Given the description of an element on the screen output the (x, y) to click on. 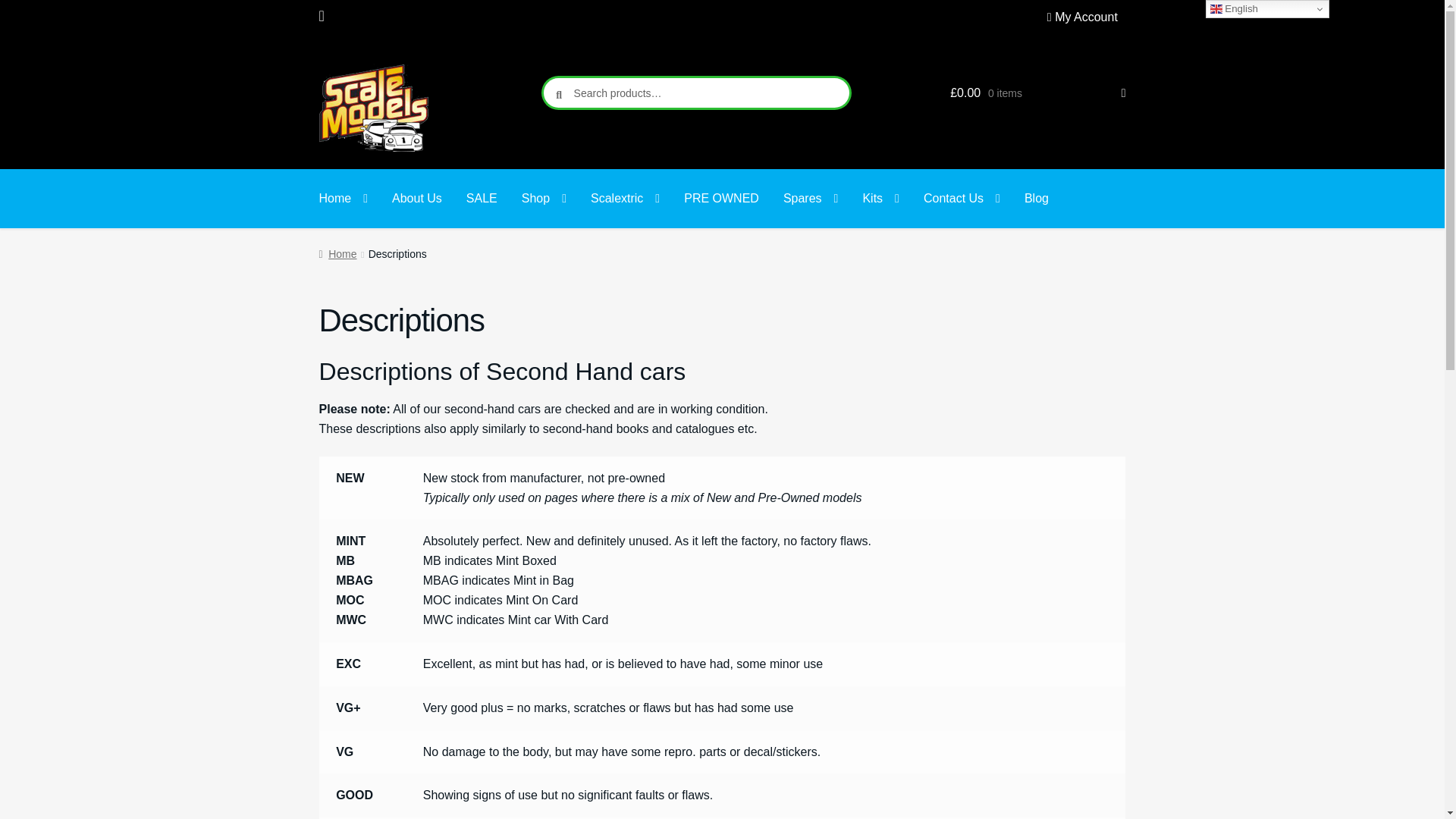
Shop (543, 198)
About Us (417, 198)
Spares (810, 198)
SALE (481, 198)
Home (343, 198)
My Account (1086, 16)
View your shopping basket (1037, 92)
Scalextric (624, 198)
PRE OWNED (721, 198)
